Given the description of an element on the screen output the (x, y) to click on. 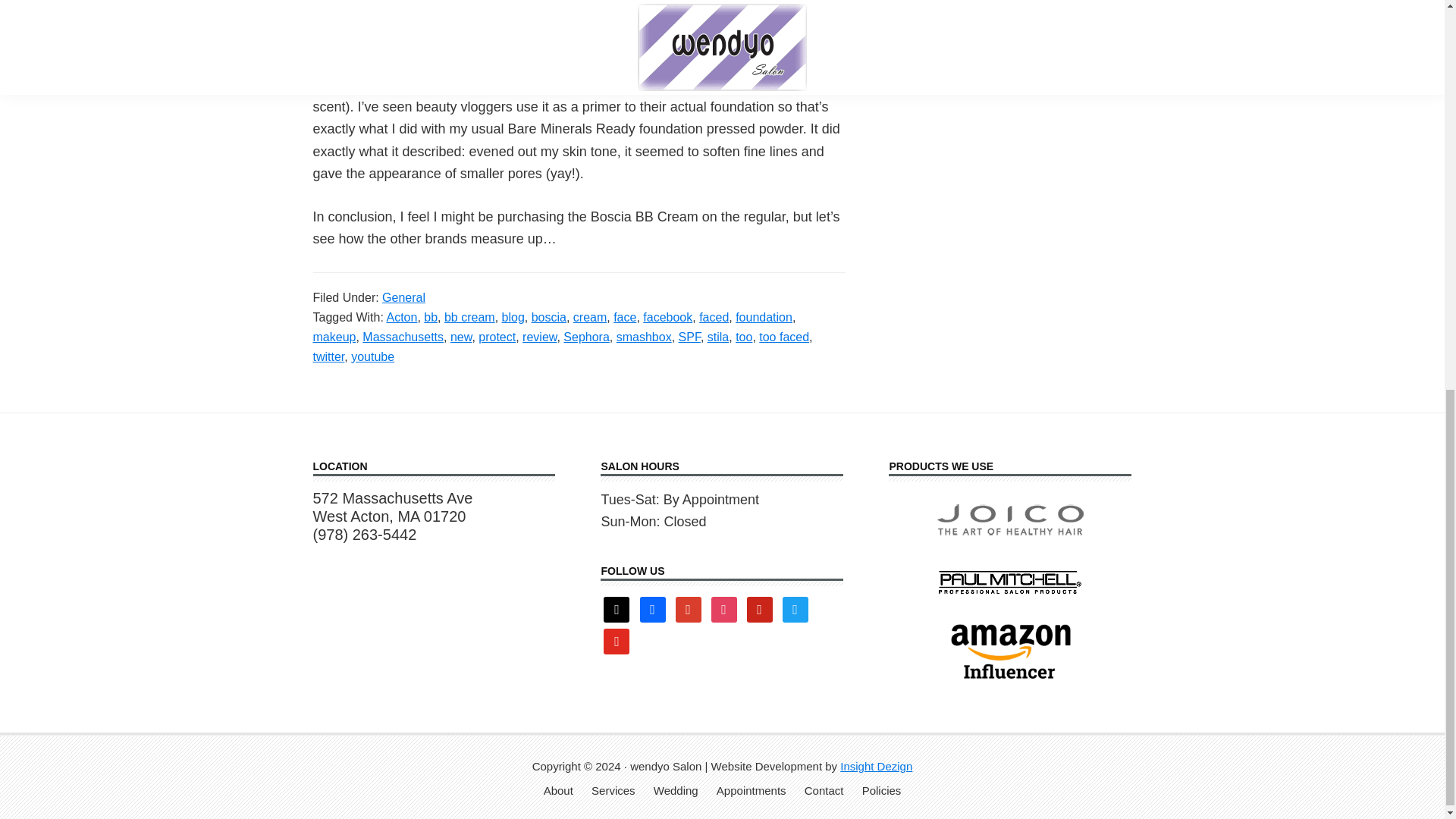
boscia (548, 317)
smashbox (643, 336)
protect (497, 336)
cream (590, 317)
bb cream (469, 317)
facebook (668, 317)
Facebook (652, 608)
foundation (763, 317)
bb (430, 317)
blog (513, 317)
